Given the description of an element on the screen output the (x, y) to click on. 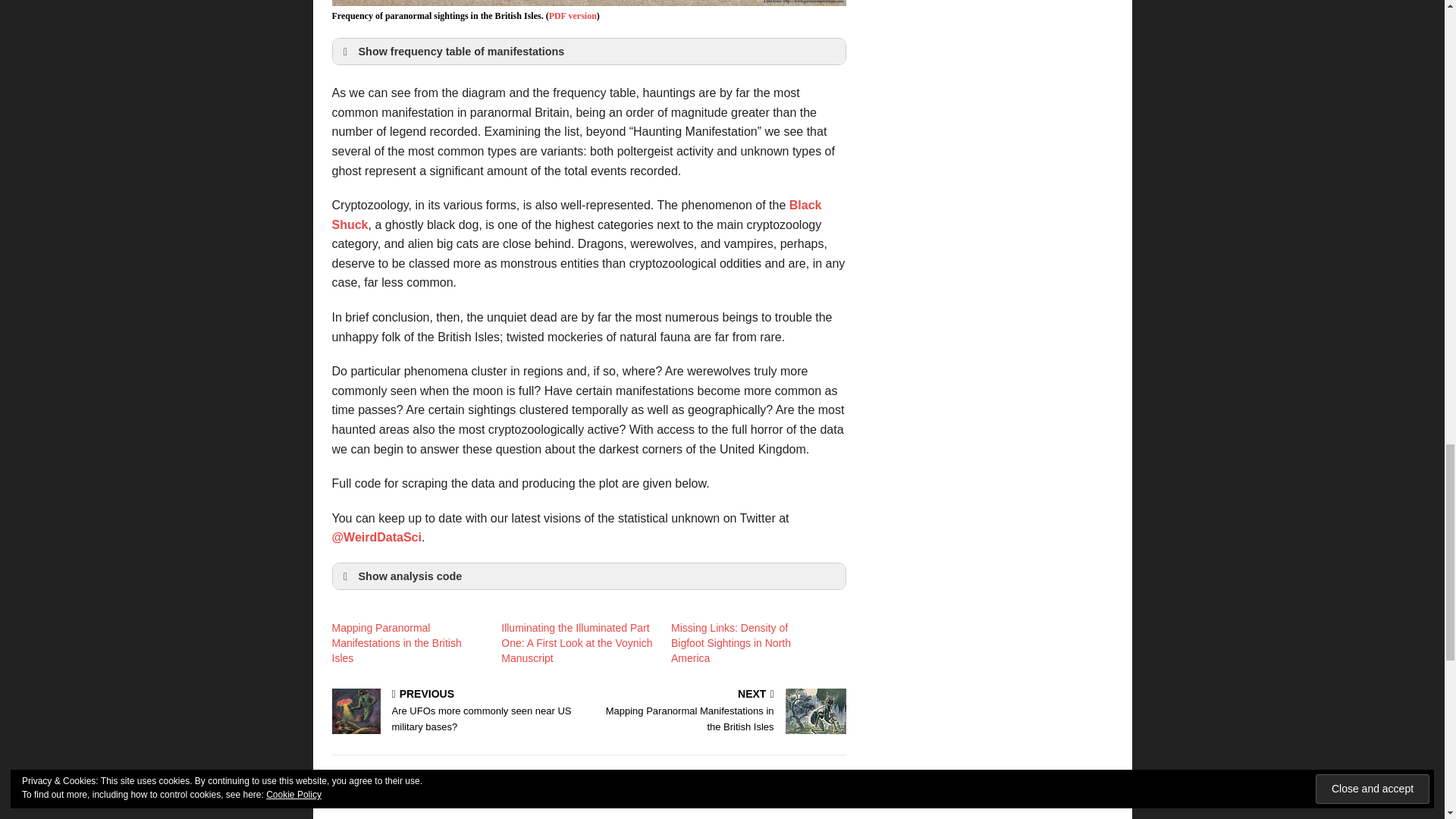
Missing Links: Density of Bigfoot Sightings in North America (730, 642)
Missing Links: Density of Bigfoot Sightings in North America (730, 642)
Mapping Paranormal Manifestations in the British Isles (396, 642)
Mapping Paranormal Manifestations in the British Isles (396, 642)
Black Shuck (457, 711)
PDF version (576, 214)
